Given the description of an element on the screen output the (x, y) to click on. 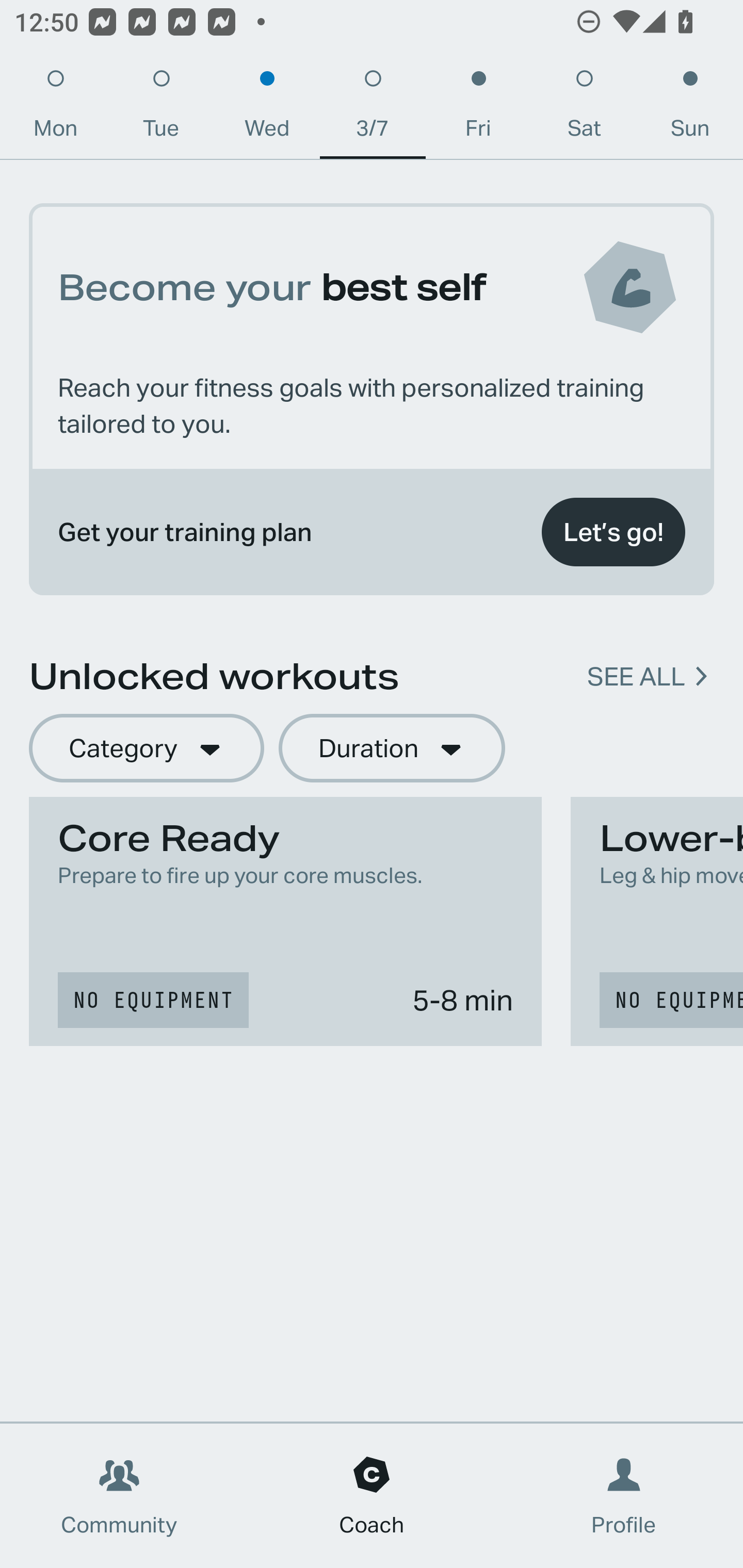
Mon (55, 108)
Tue (160, 108)
Wed (266, 108)
3/7 (372, 108)
Fri (478, 108)
Sat (584, 108)
Sun (690, 108)
Let’s go! (613, 532)
SEE ALL (635, 676)
Category (146, 748)
Duration (391, 748)
Community (119, 1495)
Profile (624, 1495)
